Given the description of an element on the screen output the (x, y) to click on. 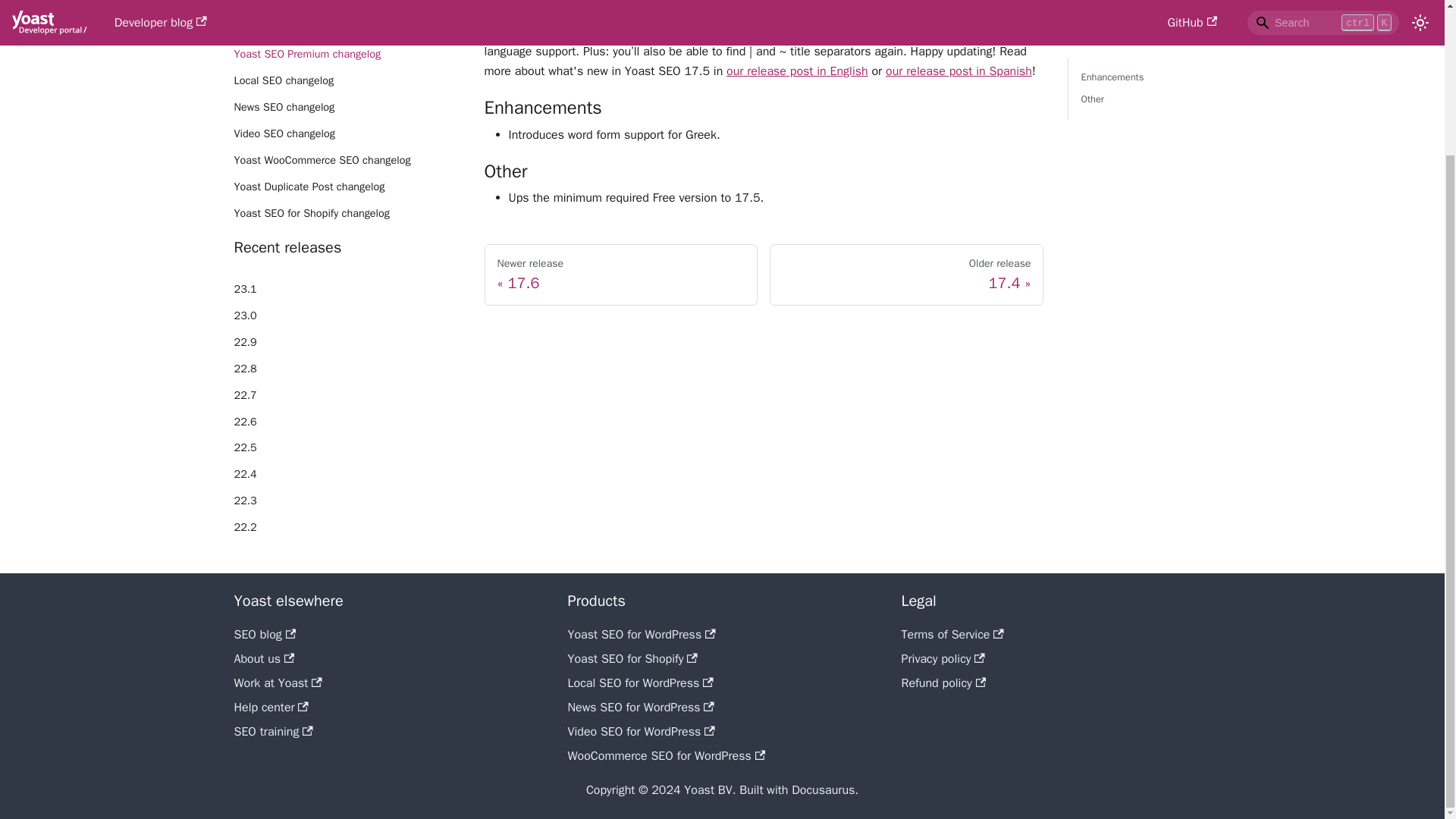
Yoast Duplicate Post changelog (346, 187)
22.5 (346, 447)
22.9 (346, 342)
22.2 (346, 527)
News SEO changelog (346, 107)
22.7 (346, 395)
23.0 (346, 316)
22.8 (346, 369)
Video SEO changelog (906, 274)
Local SEO changelog (346, 134)
22.4 (346, 81)
SEO blog (346, 475)
Yoast SEO for Shopify changelog (263, 634)
